Given the description of an element on the screen output the (x, y) to click on. 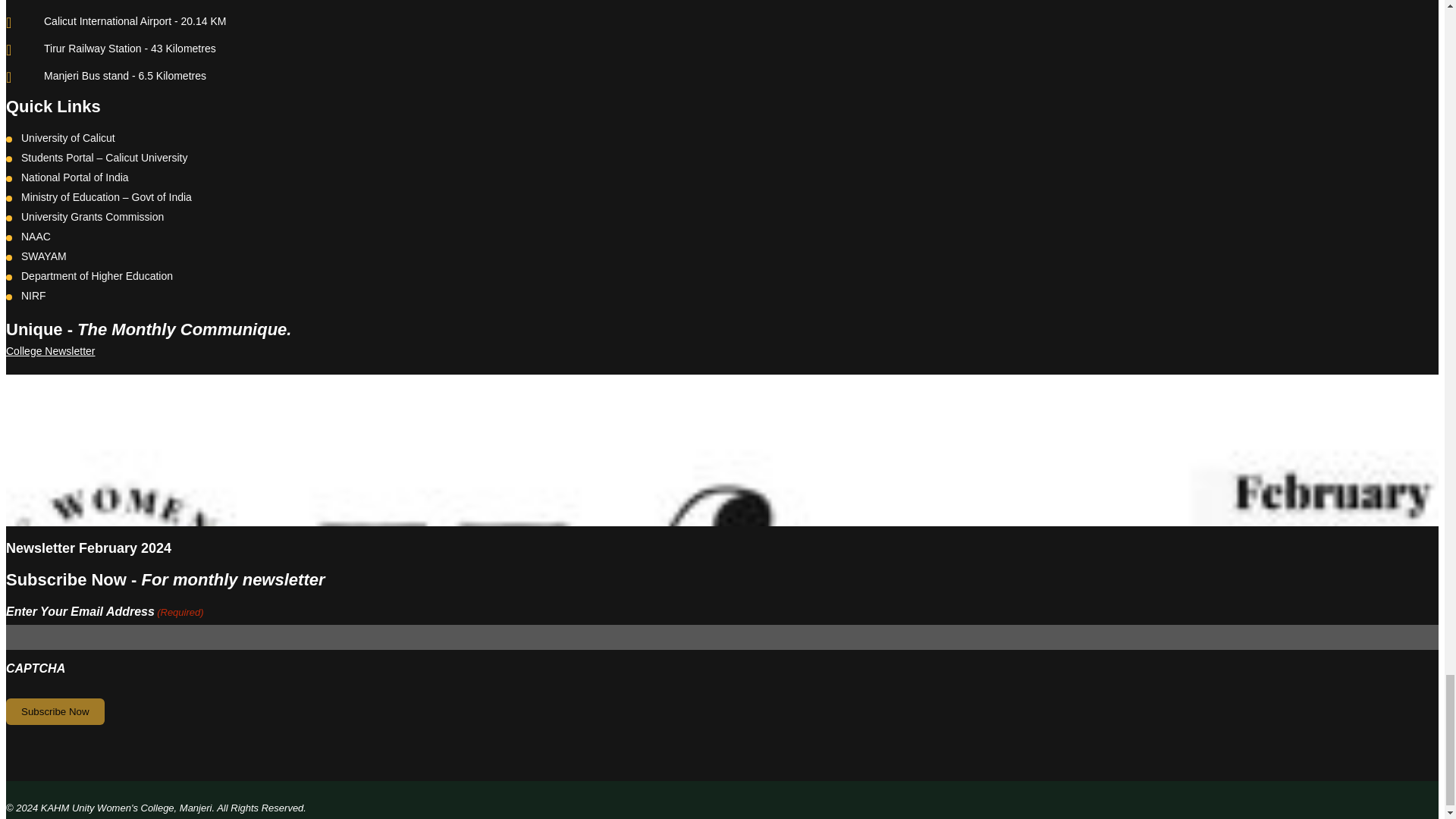
Subscribe Now (54, 711)
